Given the description of an element on the screen output the (x, y) to click on. 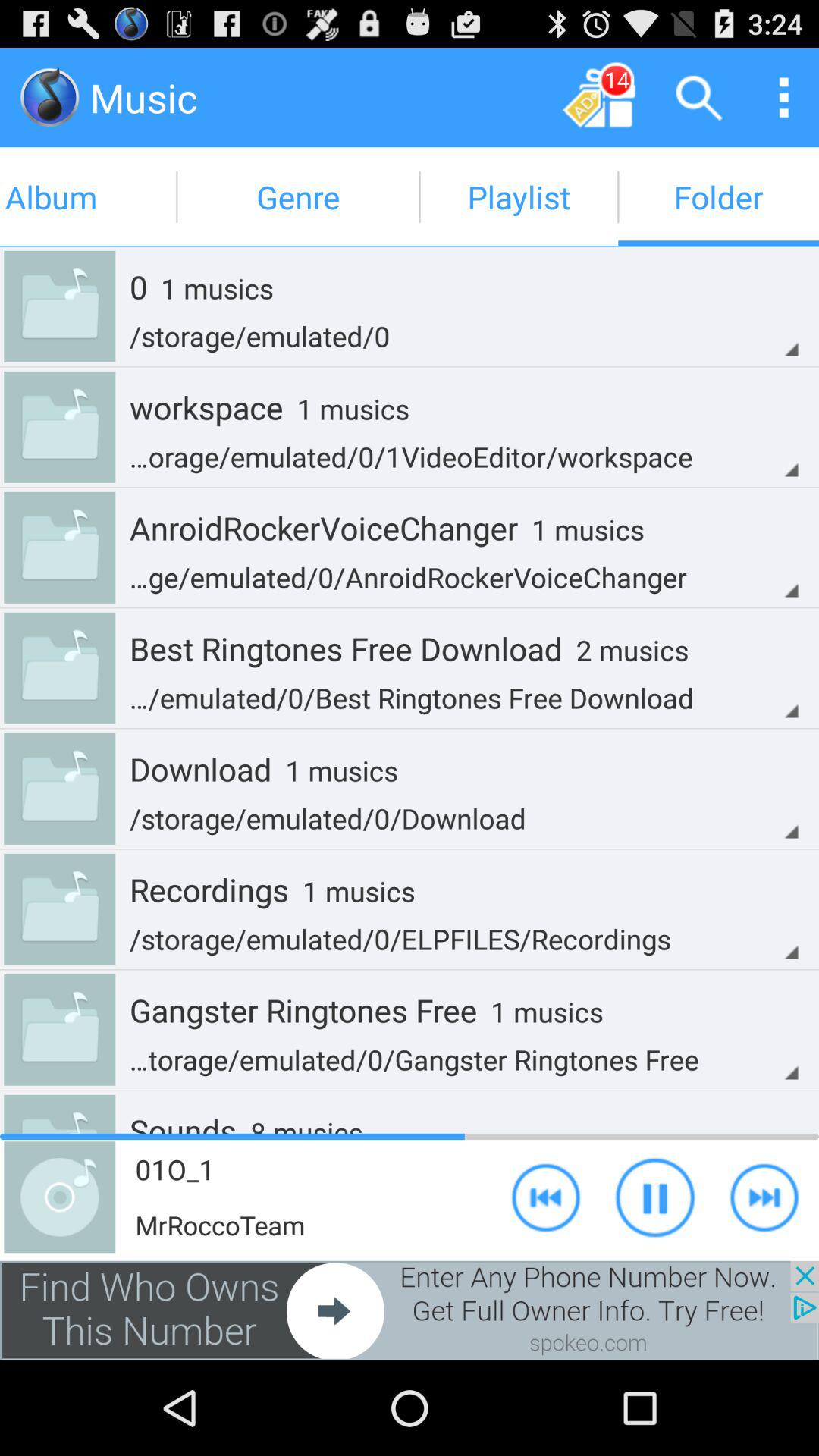
it a thing u orees to open up options (784, 97)
